Given the description of an element on the screen output the (x, y) to click on. 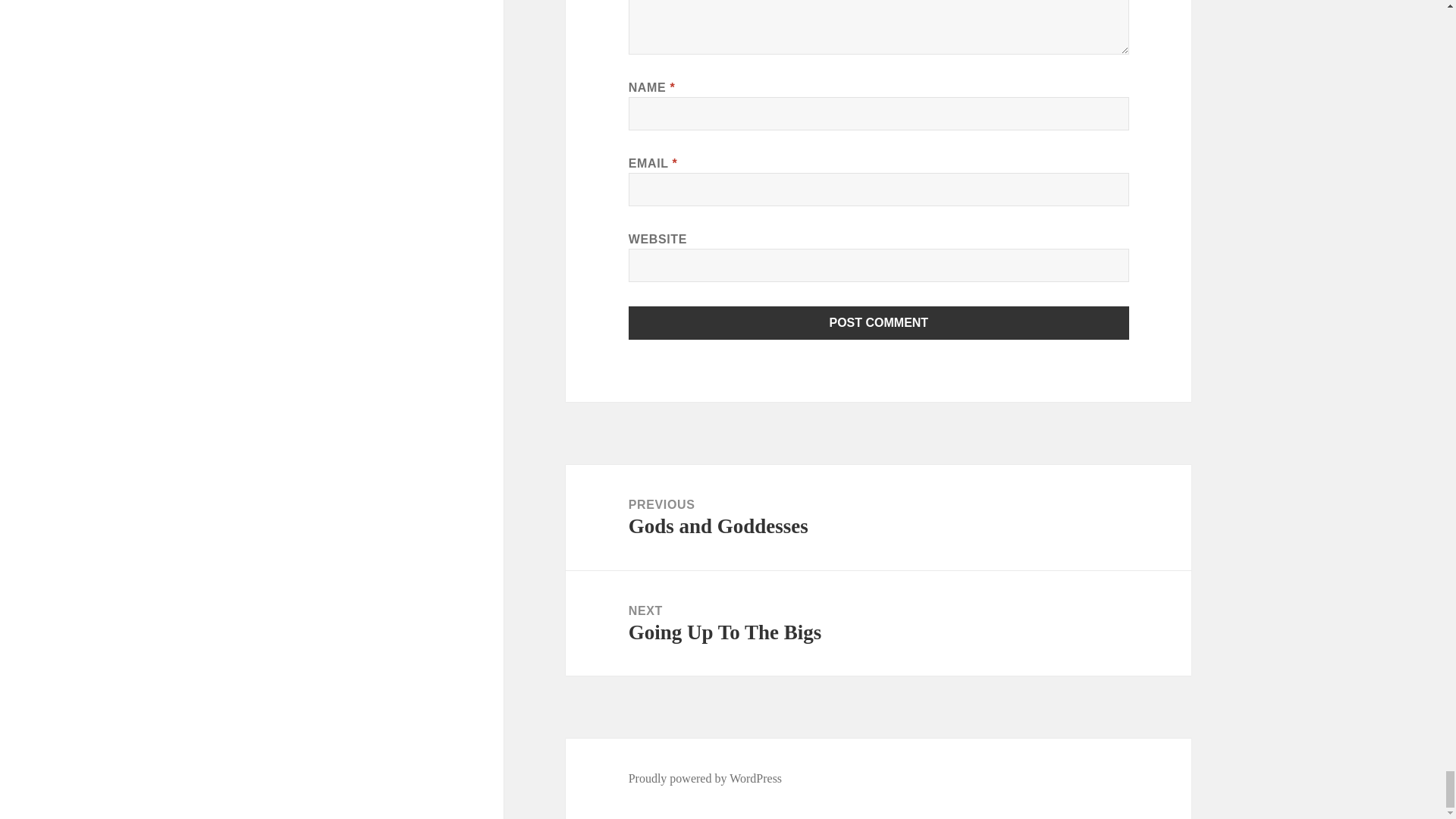
Post Comment (878, 322)
